Given the description of an element on the screen output the (x, y) to click on. 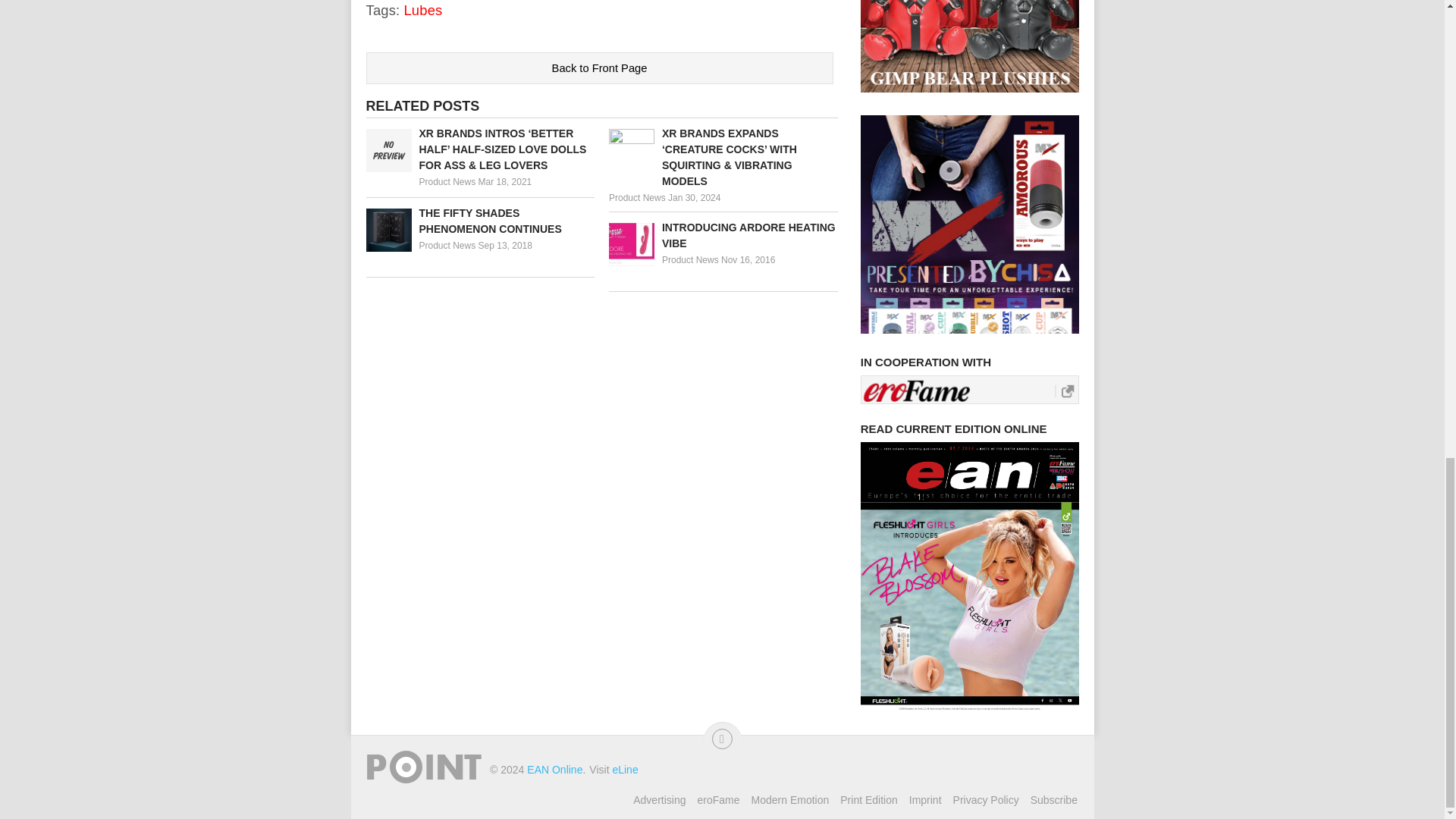
Introducing Ardore heating vibe (723, 235)
The Fifty Shades phenomenon continues (479, 221)
Product News (636, 197)
INTRODUCING ARDORE HEATING VIBE (723, 235)
THE FIFTY SHADES PHENOMENON CONTINUES (479, 221)
Product News (690, 259)
Back to Front Page (599, 68)
Product News (447, 245)
Lubes (422, 10)
Product News (447, 181)
